Given the description of an element on the screen output the (x, y) to click on. 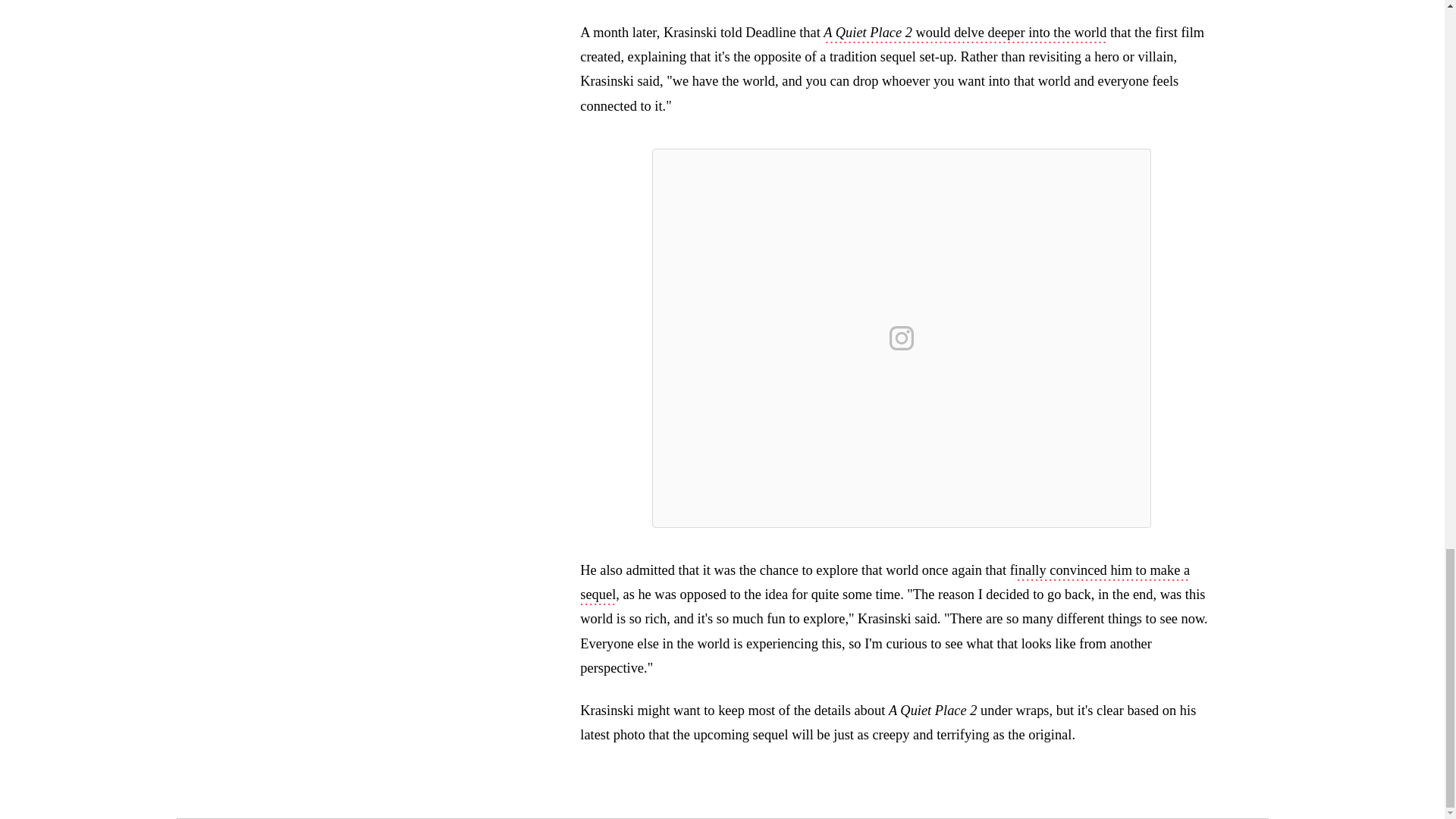
View on Instagram (901, 338)
A Quiet Place 2 would delve deeper into the world (965, 34)
inally convinced him to make a sequel (884, 583)
